Given the description of an element on the screen output the (x, y) to click on. 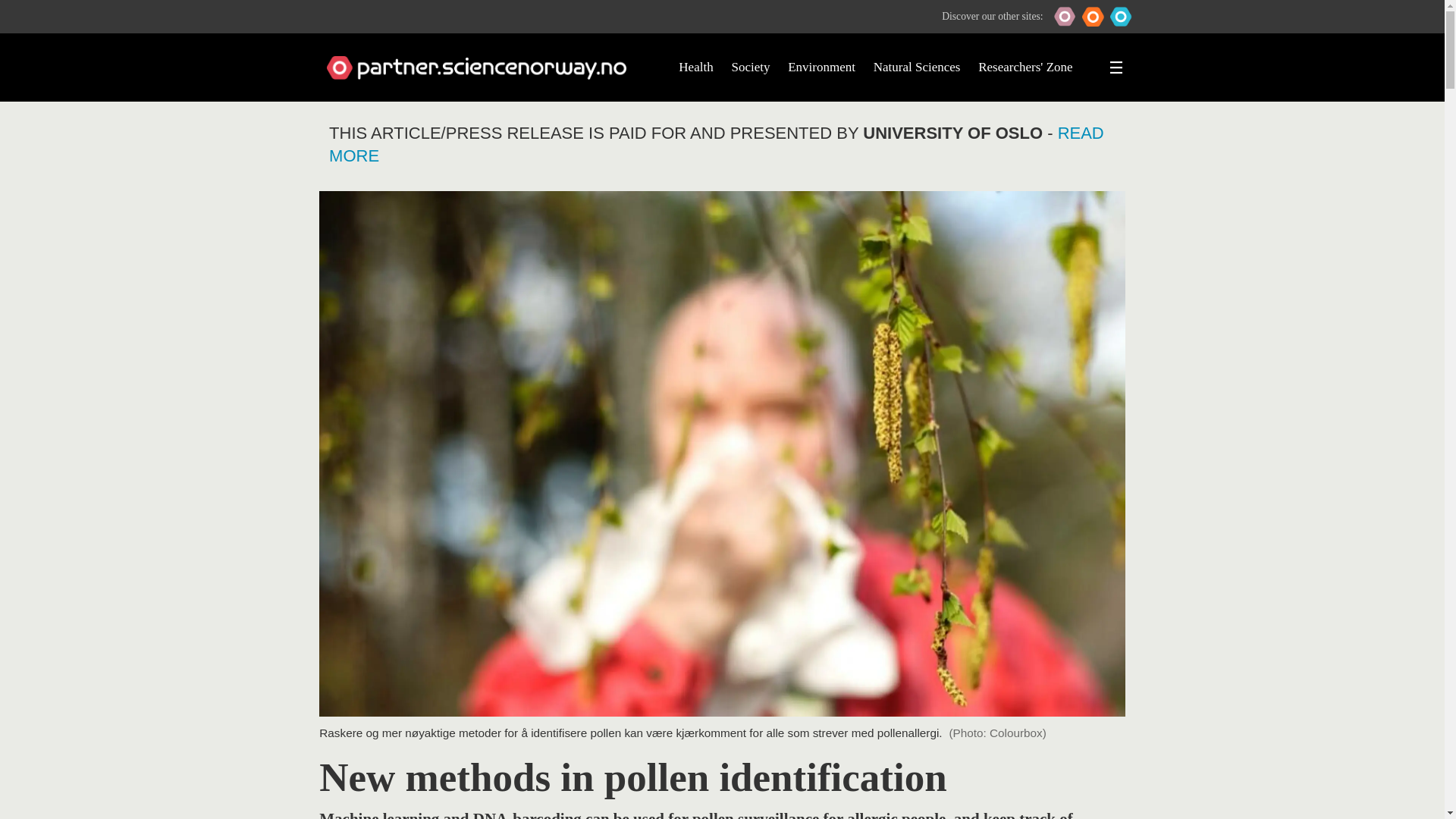
Researchers' Zone (1024, 66)
READ MORE (716, 144)
Natural Sciences (916, 66)
Society (750, 66)
Environment (821, 66)
Health (695, 66)
